Given the description of an element on the screen output the (x, y) to click on. 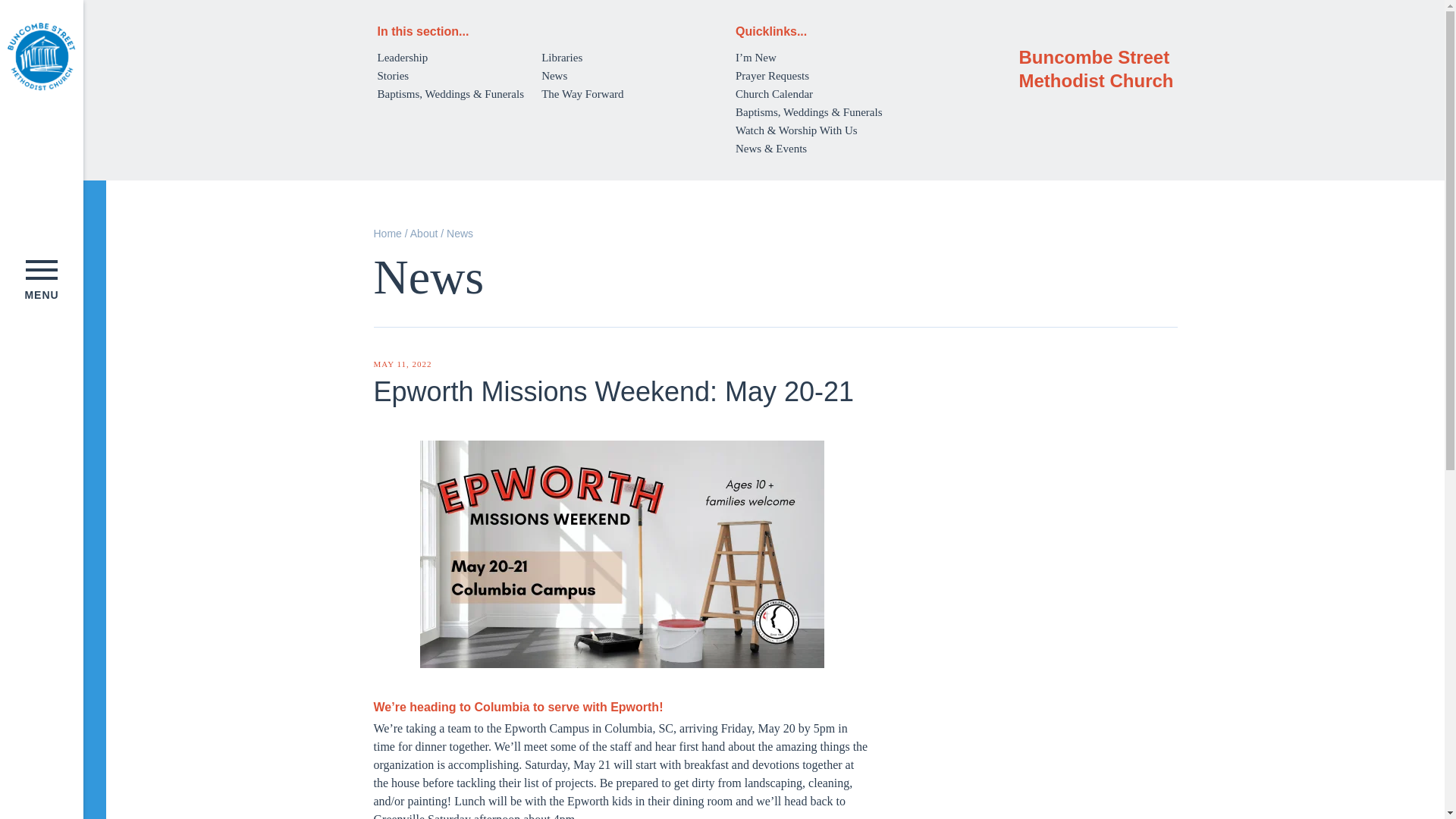
MENU (41, 279)
Buncombe Street Methodist Church (41, 56)
